Given the description of an element on the screen output the (x, y) to click on. 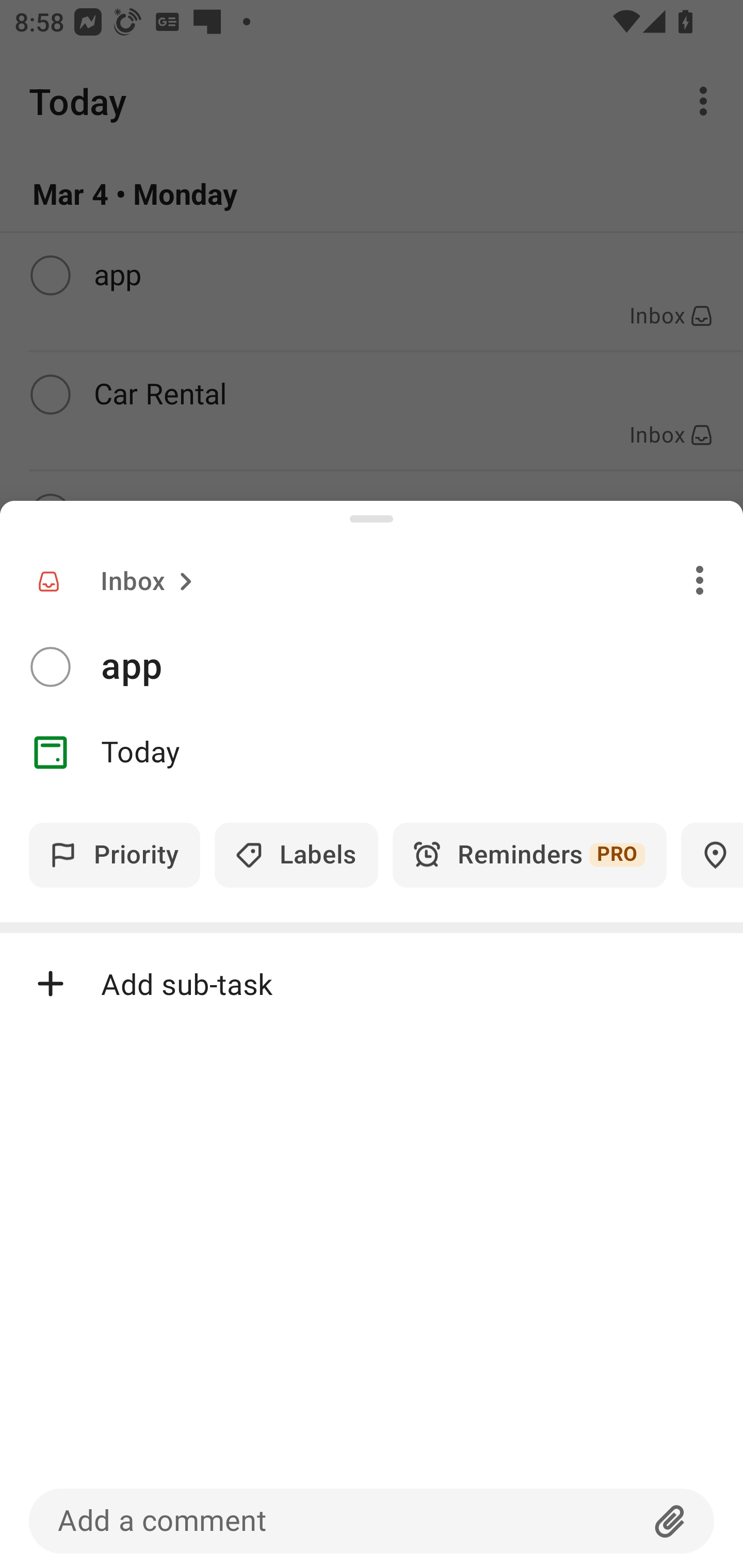
Overflow menu (699, 580)
Complete (50, 667)
app​ (422, 666)
Date Today (371, 752)
Priority (113, 855)
Labels (296, 855)
Reminders PRO (529, 855)
Locations PRO (712, 855)
Add sub-task (371, 983)
Add a comment Attachment (371, 1520)
Attachment (670, 1520)
